Given the description of an element on the screen output the (x, y) to click on. 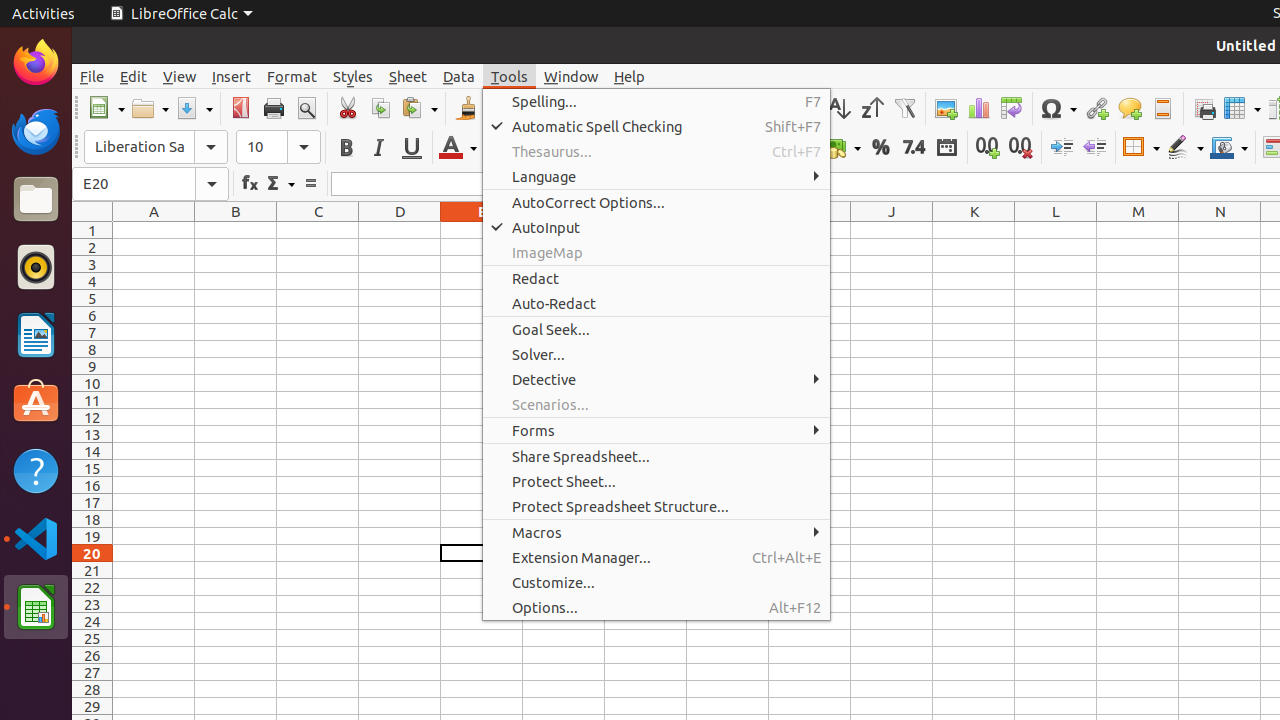
Edit Element type: menu (133, 76)
Name Box Element type: combo-box (150, 184)
Tools Element type: menu (509, 76)
